Given the description of an element on the screen output the (x, y) to click on. 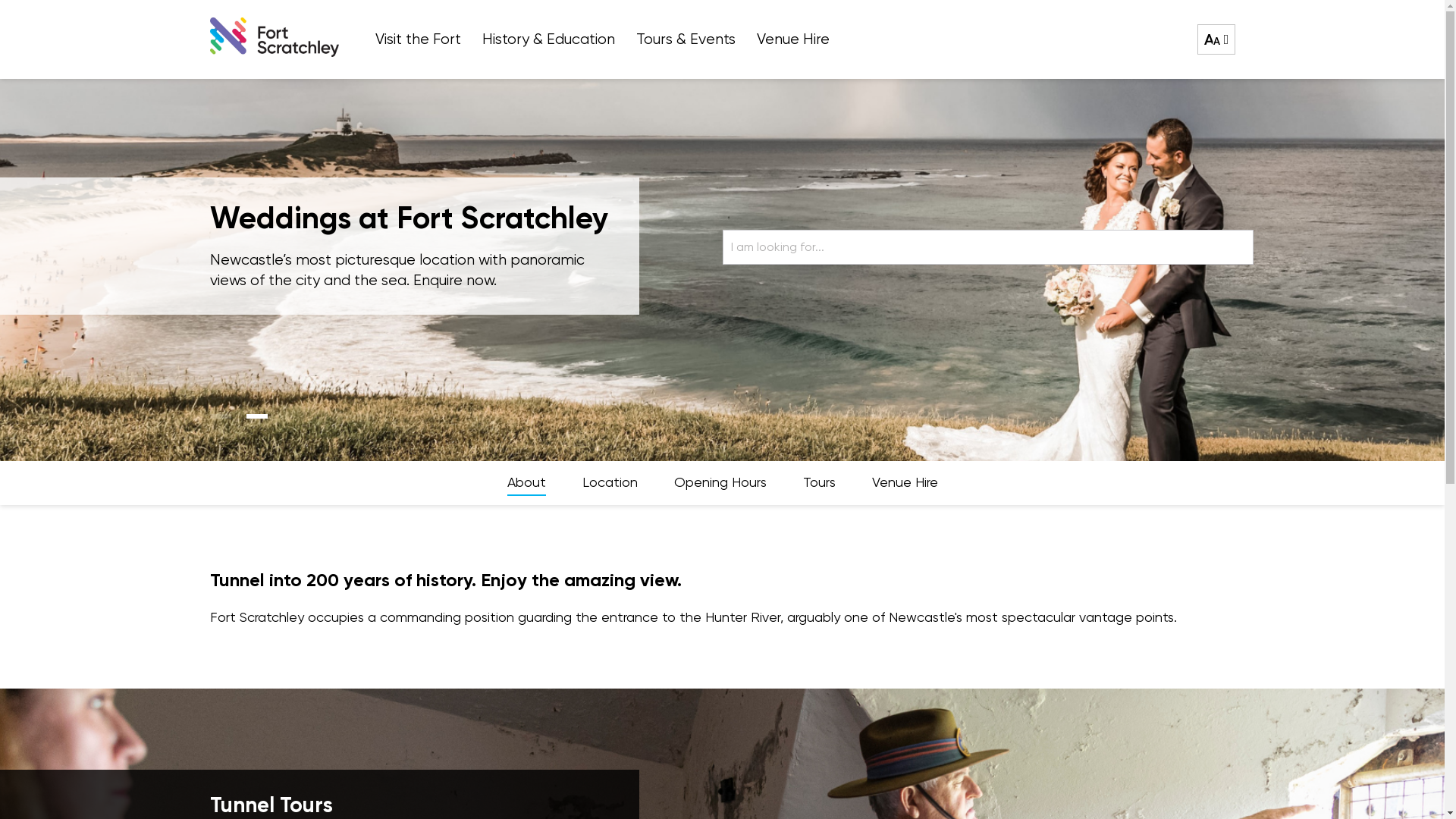
History & Education Element type: text (548, 39)
2 Element type: text (255, 415)
About Element type: text (525, 482)
Tours & Events Element type: text (684, 39)
Search Element type: text (1235, 246)
Location Element type: text (609, 482)
1 Element type: text (219, 415)
Tours Element type: text (818, 482)
Venue Hire Element type: text (905, 482)
Opening Hours Element type: text (719, 482)
Visit the Fort Element type: text (417, 39)
Change font size Element type: text (1215, 39)
Venue Hire Element type: text (793, 39)
